Given the description of an element on the screen output the (x, y) to click on. 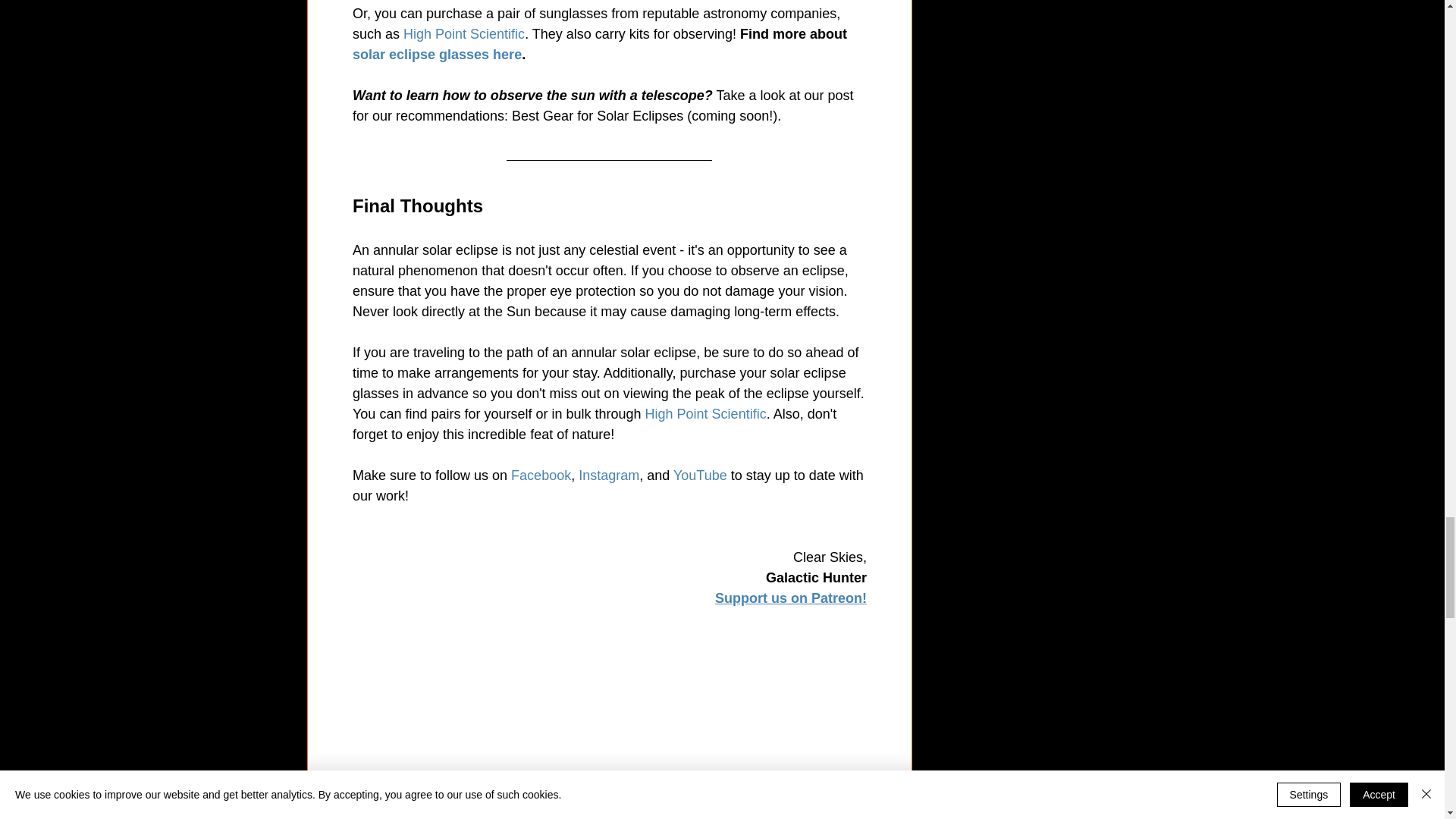
remote content (609, 735)
